Given the description of an element on the screen output the (x, y) to click on. 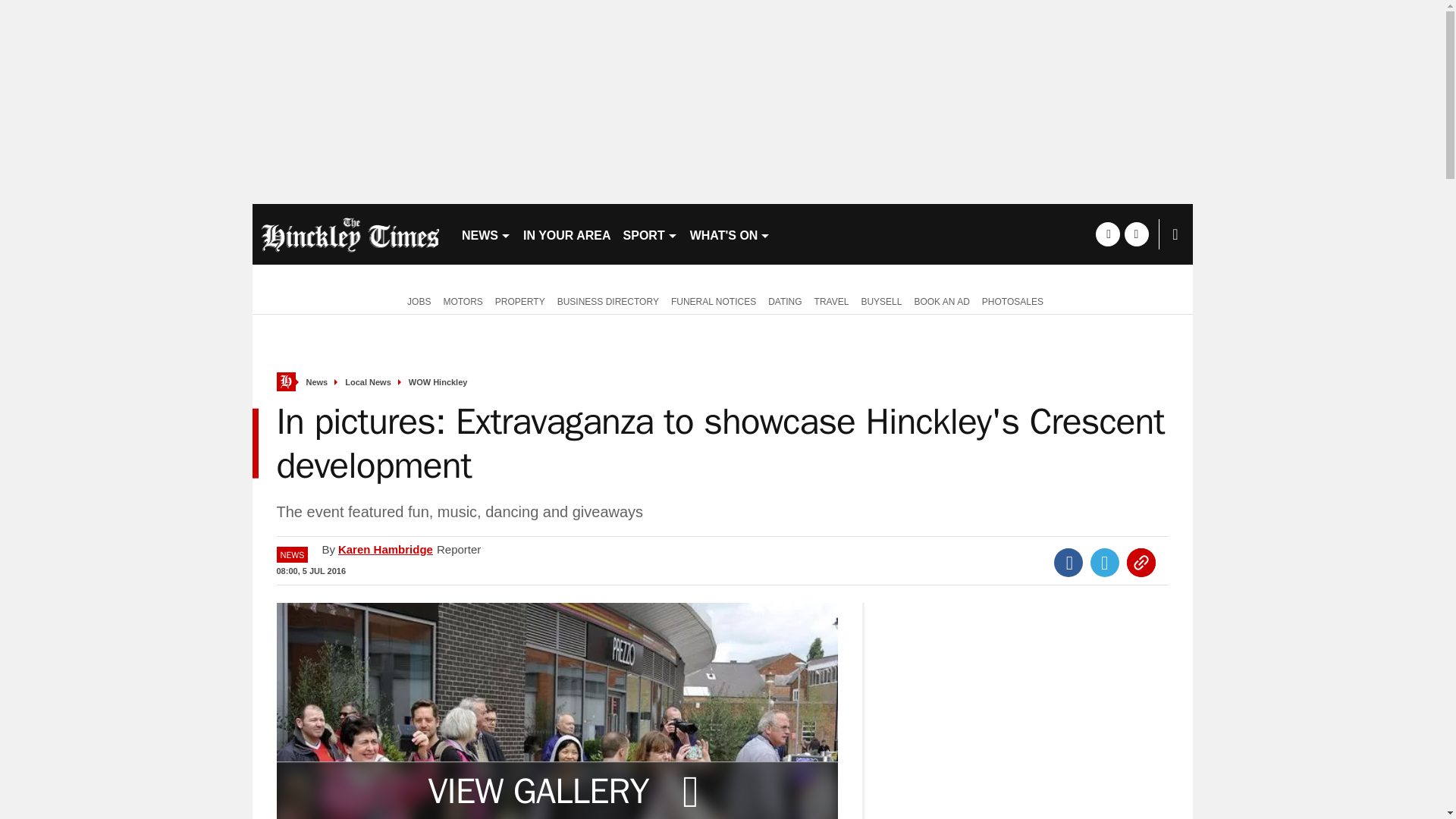
PHOTOSALES (1012, 300)
SPORT (650, 233)
NEWS (485, 233)
twitter (1136, 233)
WHAT'S ON (730, 233)
BUSINESS DIRECTORY (608, 300)
MOTORS (461, 300)
DATING (784, 300)
facebook (1106, 233)
JOBS (415, 300)
